Given the description of an element on the screen output the (x, y) to click on. 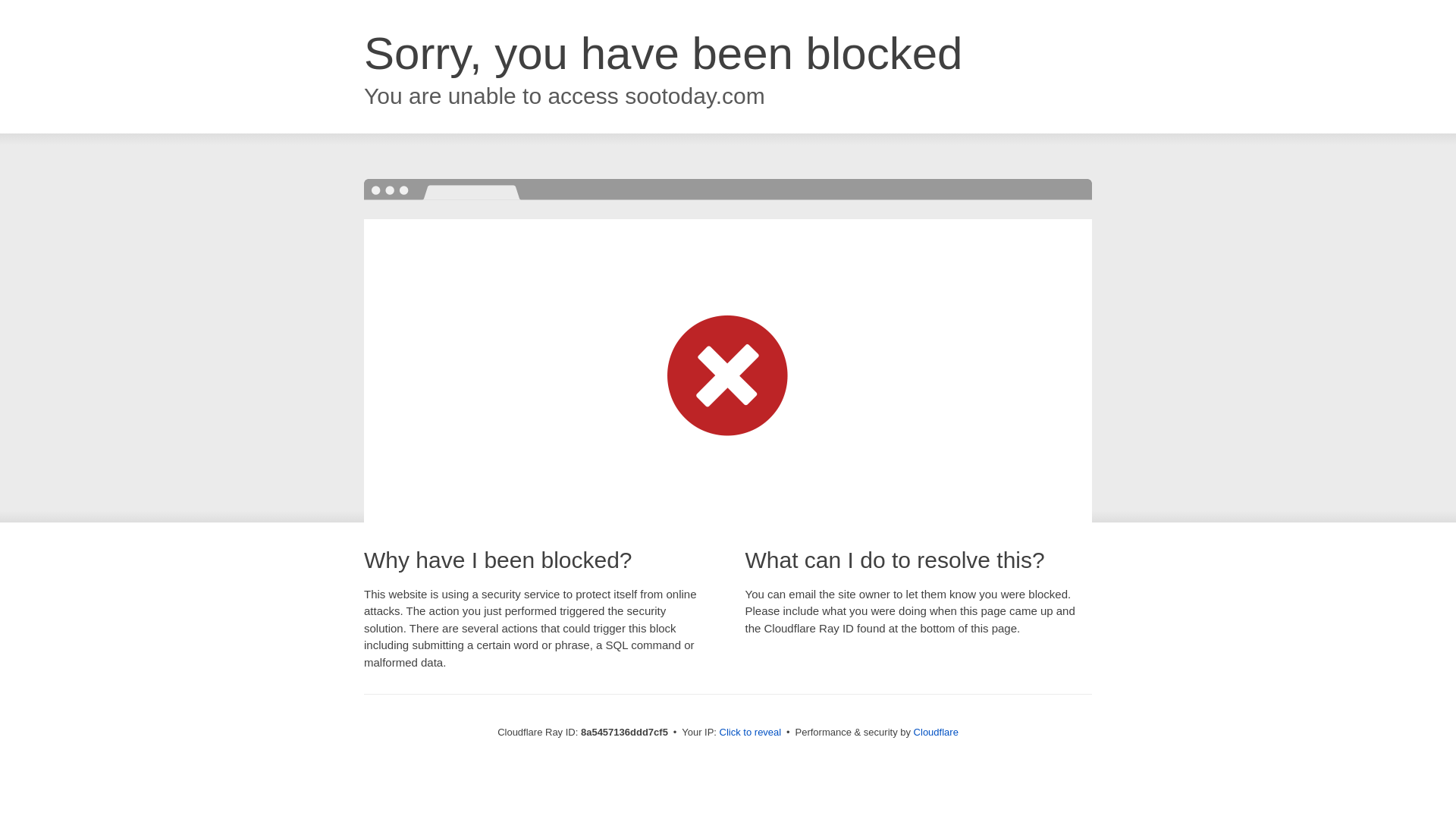
Click to reveal (750, 732)
Cloudflare (936, 731)
